Given the description of an element on the screen output the (x, y) to click on. 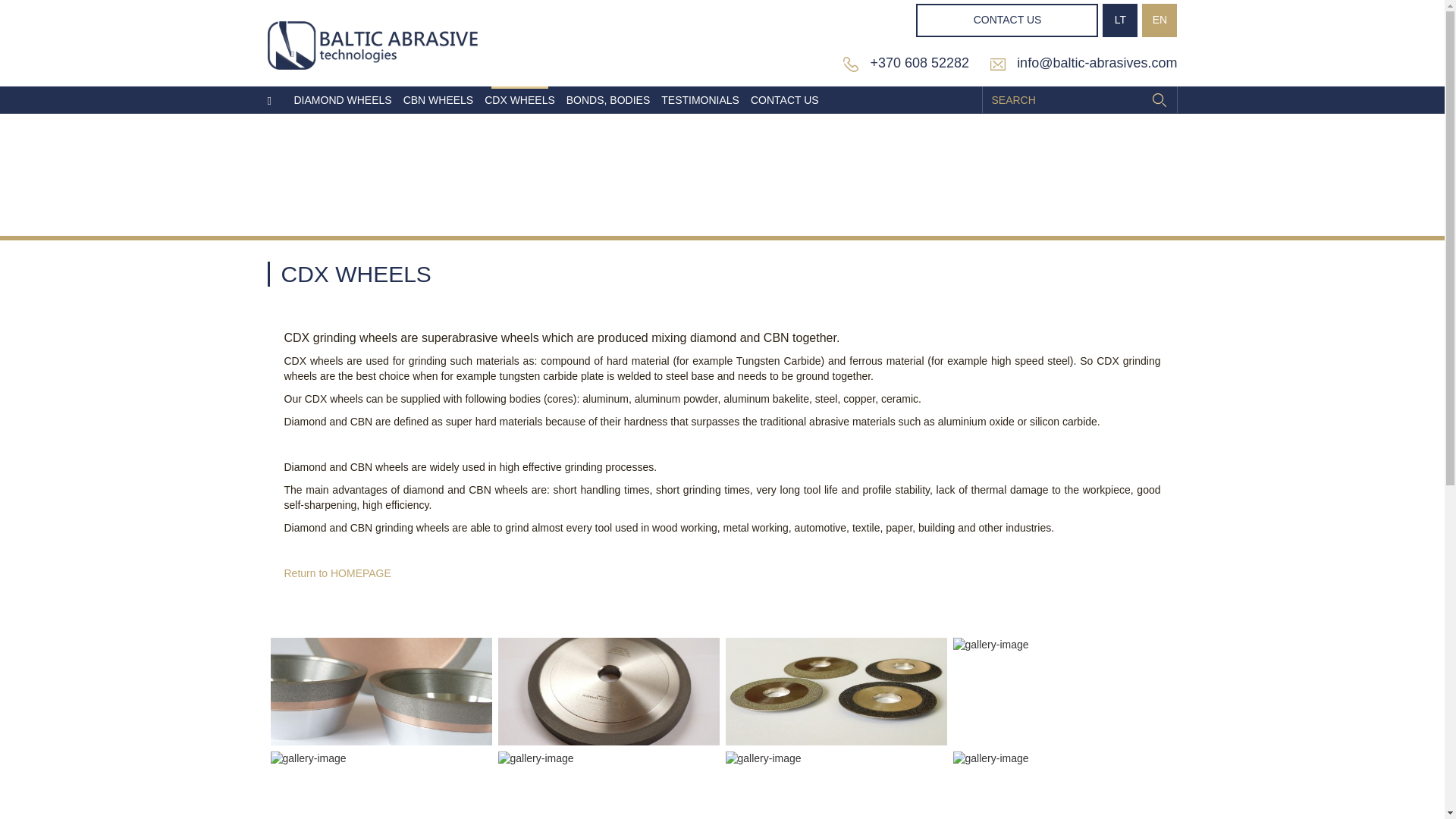
Diamond wheels (342, 99)
Contact us (784, 99)
BONDS, BODIES (607, 99)
TESTIMONIALS (700, 99)
DIAMOND WHEELS (342, 99)
CONTACT US (784, 99)
CONTACT US (1006, 20)
CBN WHEELS (438, 99)
CDX wheels (519, 99)
Testimonials (700, 99)
Bonds, bodies (607, 99)
Return to HOMEPAGE (336, 573)
CBN wheels (438, 99)
LT (1119, 20)
CDX WHEELS (519, 99)
